Given the description of an element on the screen output the (x, y) to click on. 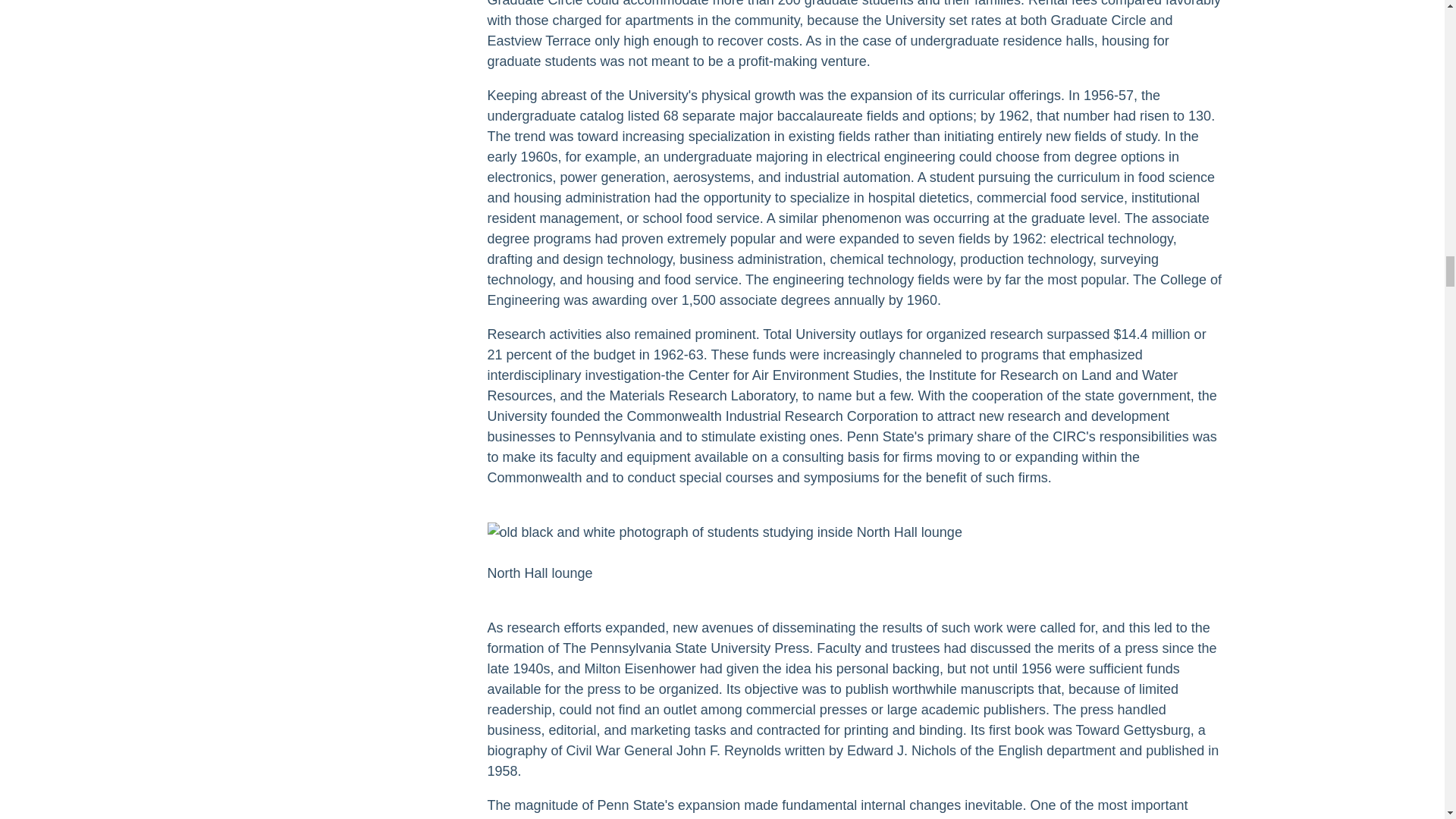
1337788654961.jpg (723, 532)
